Given the description of an element on the screen output the (x, y) to click on. 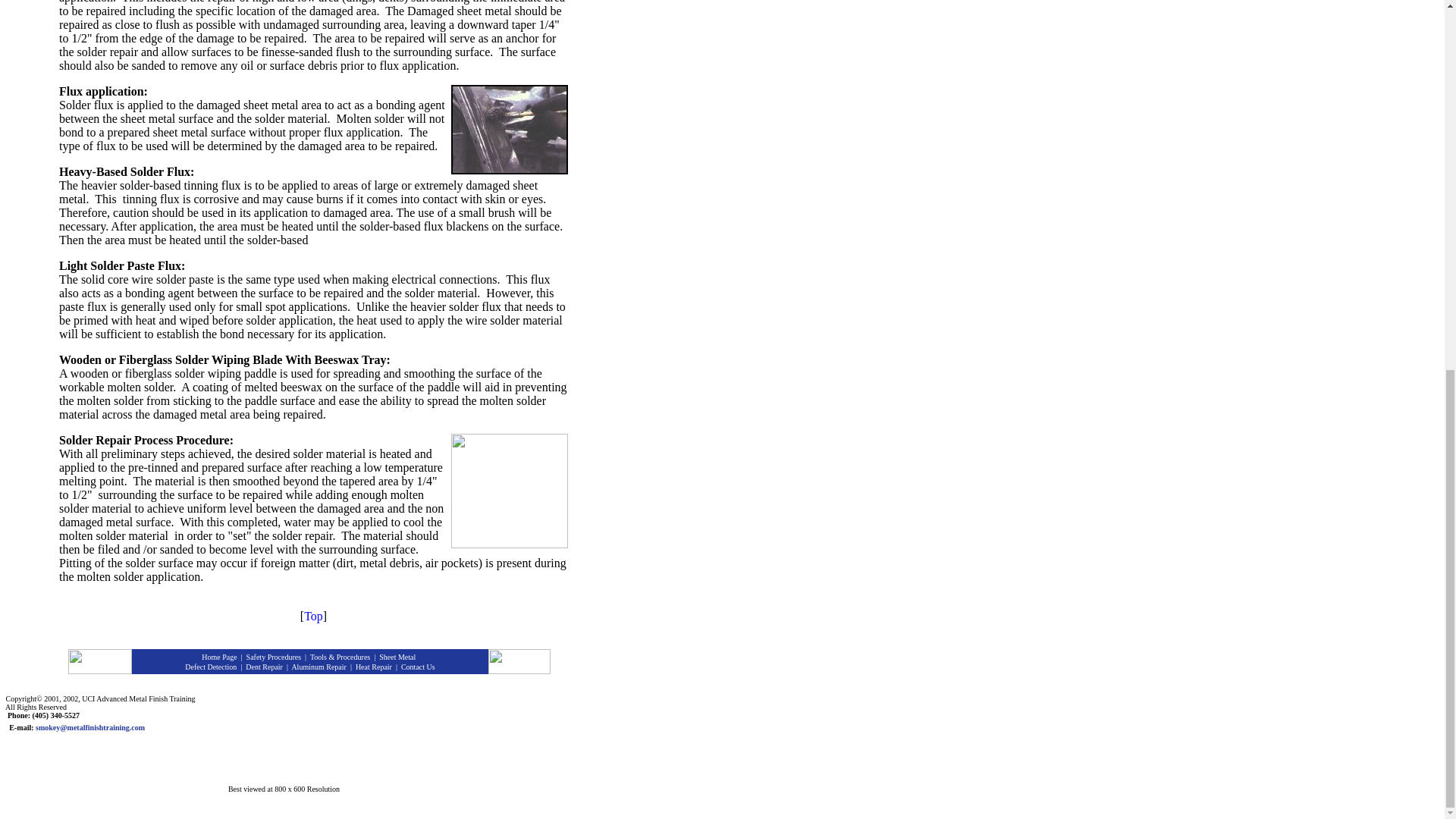
Contact Us (418, 666)
Safety Procedures (273, 656)
Aluminum Repair (318, 666)
Top (313, 615)
Dent Repair (264, 666)
Sheet Metal (396, 656)
Heat Repair (373, 666)
Home Page (218, 656)
Defect Detection (209, 666)
